Given the description of an element on the screen output the (x, y) to click on. 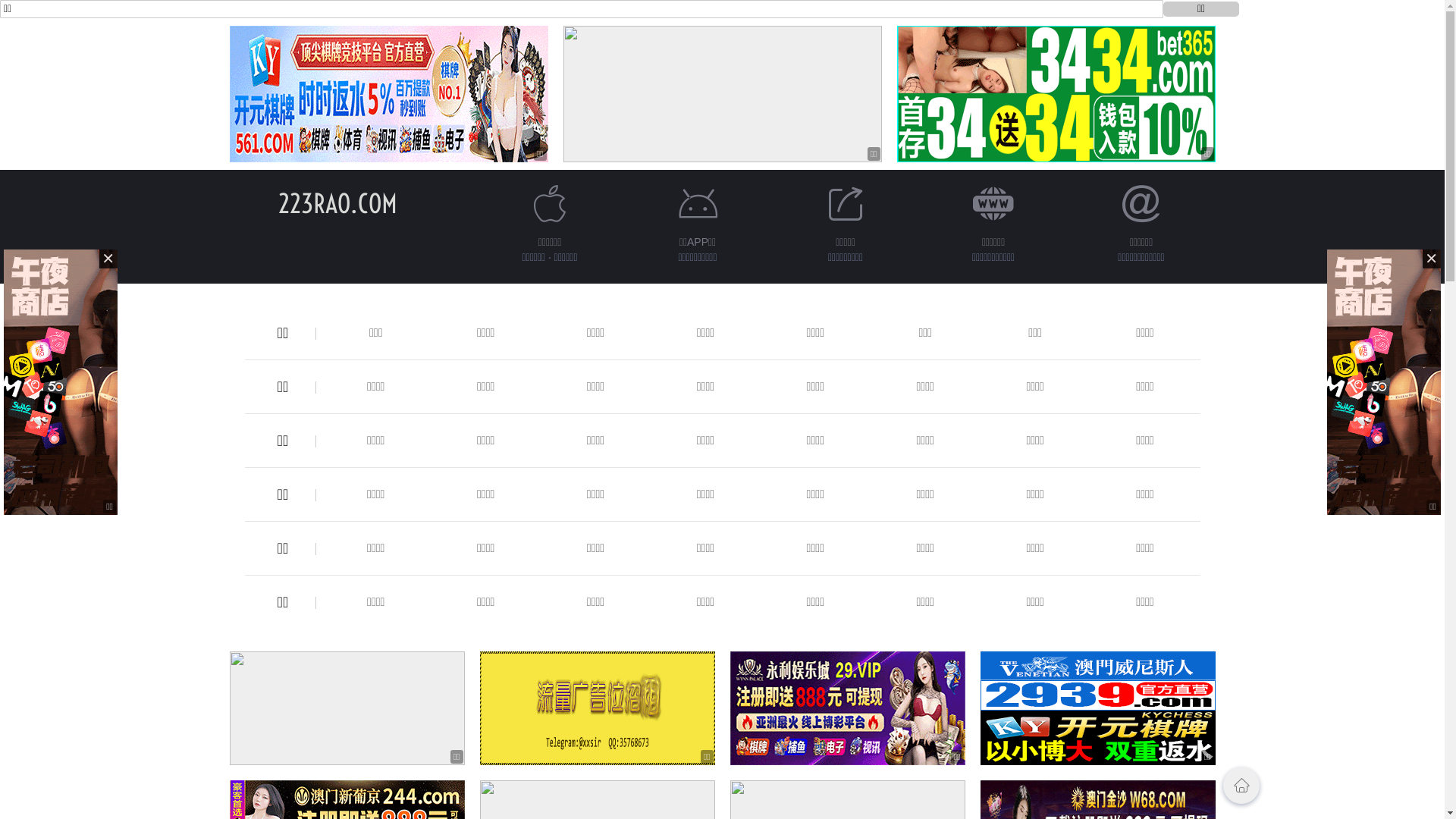
223RAO.COM Element type: text (337, 203)
